Given the description of an element on the screen output the (x, y) to click on. 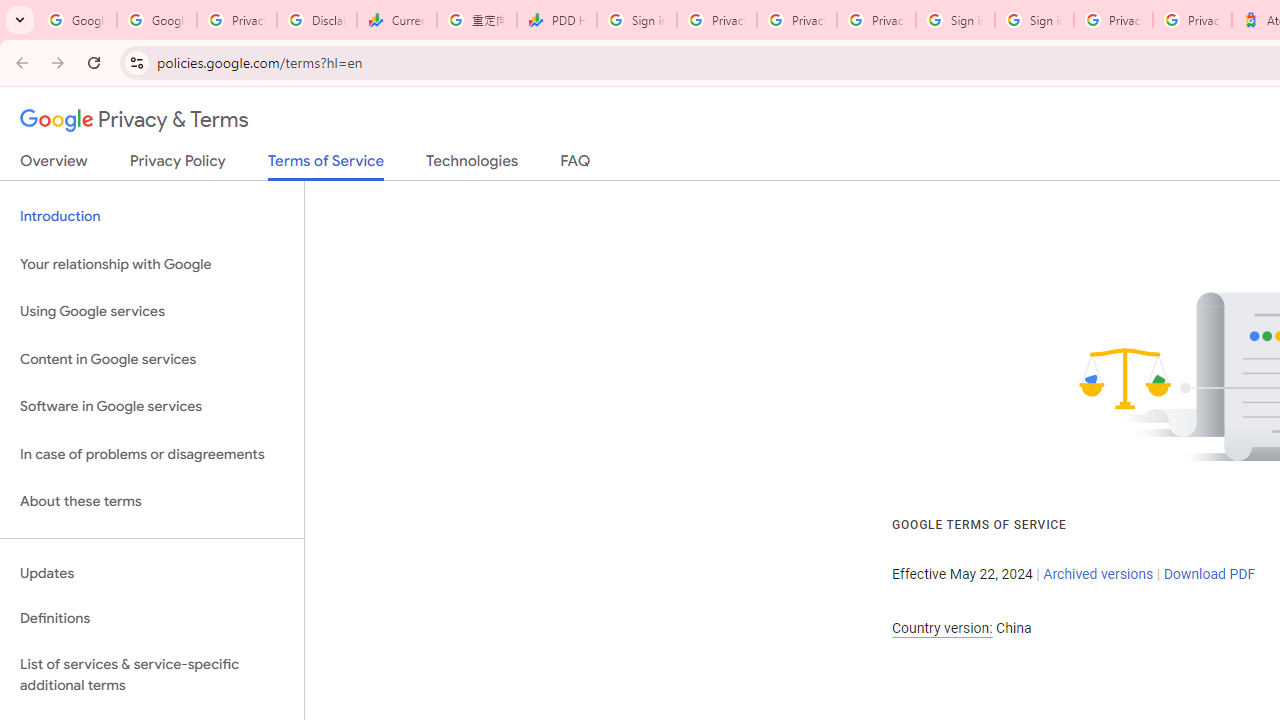
Country version: (942, 628)
PDD Holdings Inc - ADR (PDD) Price & News - Google Finance (556, 20)
Privacy Checkup (876, 20)
